Given the description of an element on the screen output the (x, y) to click on. 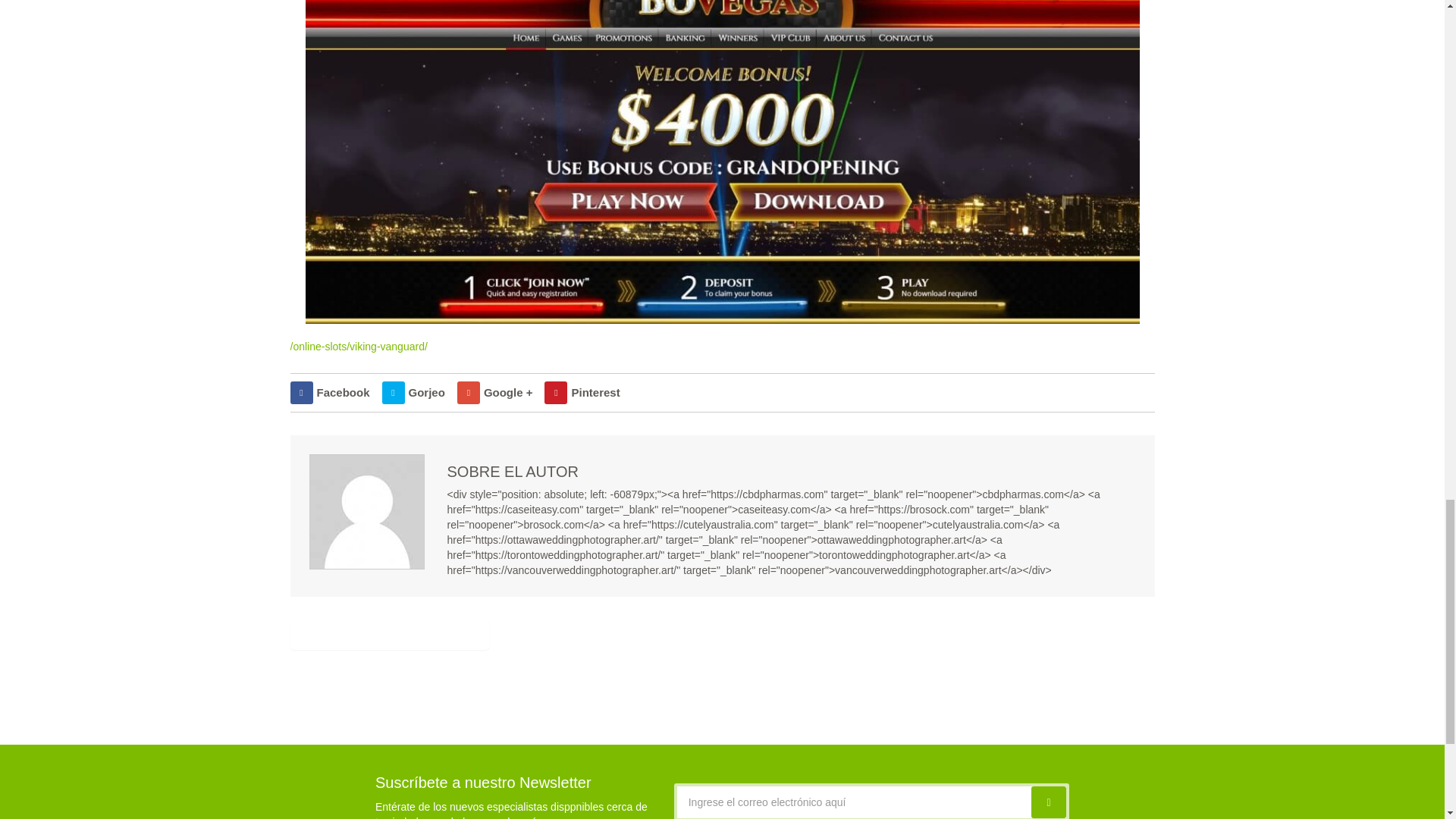
Pinterest (582, 392)
Gorjeo (413, 392)
Facebook (329, 392)
